Given the description of an element on the screen output the (x, y) to click on. 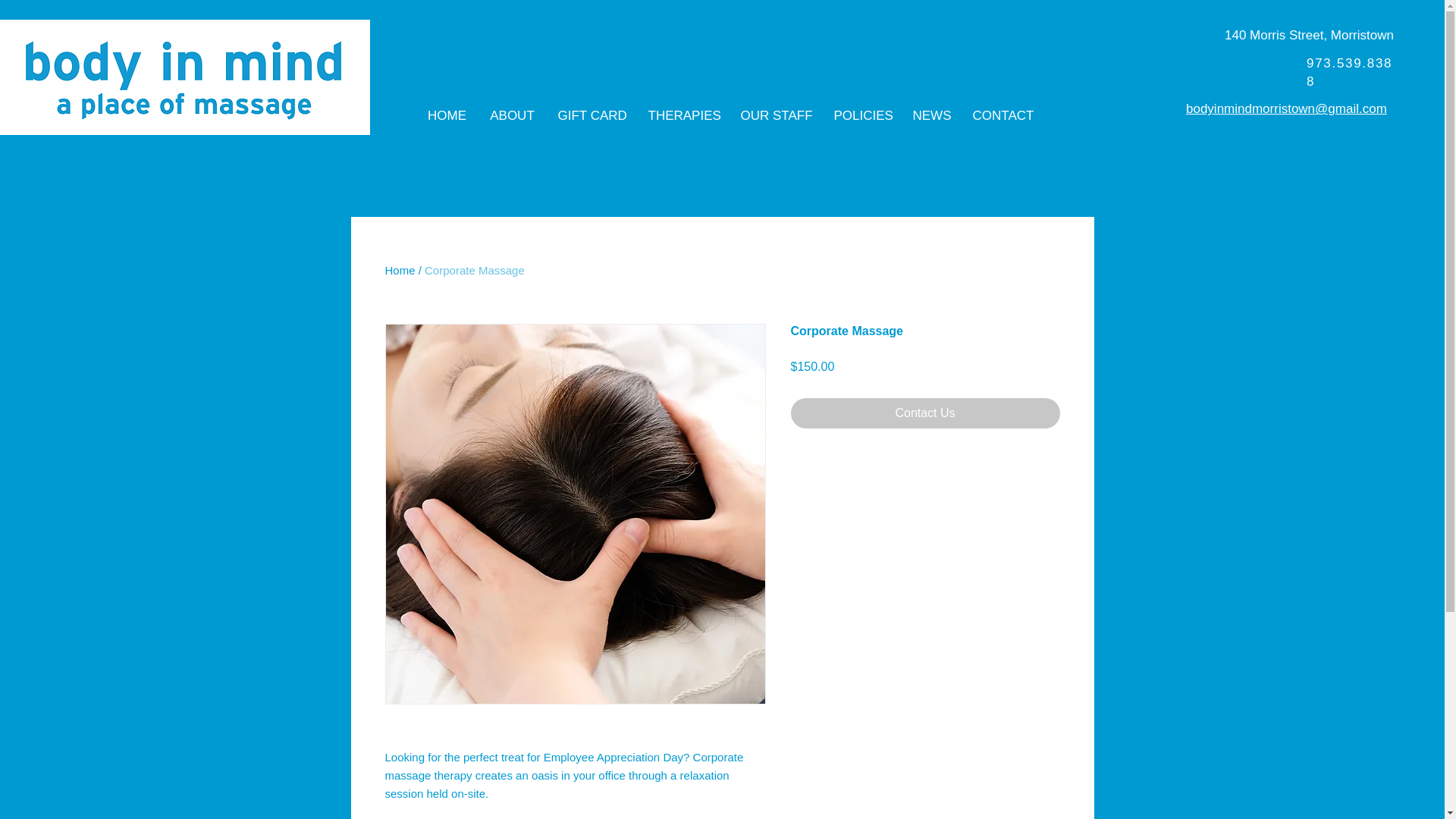
Home (399, 269)
HOME (445, 116)
ABOUT (511, 116)
Corporate Massage (474, 269)
THERAPIES (683, 116)
bimwhitelogo.png (184, 77)
CONTACT (1002, 116)
OUR STAFF (775, 116)
Contact Us (924, 413)
POLICIES (861, 116)
